Given the description of an element on the screen output the (x, y) to click on. 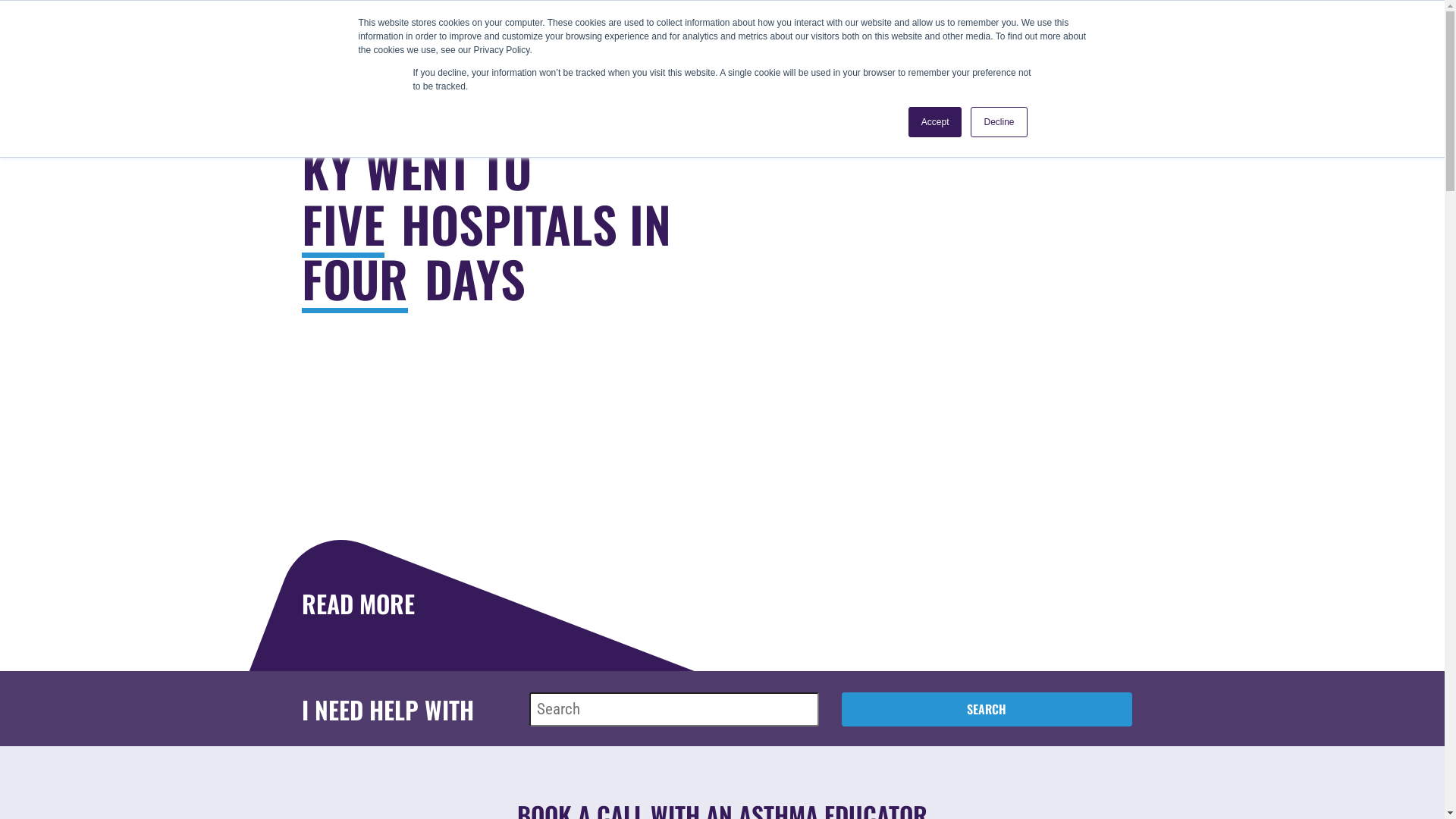
1800 278 462 Element type: text (1160, 24)
GET INVOLVED Element type: text (860, 71)
ASTHMA Element type: text (295, 71)
OUR WORK Element type: text (554, 71)
Decline Element type: text (998, 121)
READ MORE Element type: text (351, 603)
DONATE Element type: text (1343, 71)
ABOUT US Element type: text (998, 71)
DOWNLOAD NOW Element type: text (375, 603)
Skip to content Element type: text (1443, 0)
Accept Element type: text (935, 121)
TREATMENT Element type: text (422, 71)
PROFESSIONALS Element type: text (702, 71)
FIND OUT MORE Element type: text (370, 603)
Search Element type: text (986, 708)
